Given the description of an element on the screen output the (x, y) to click on. 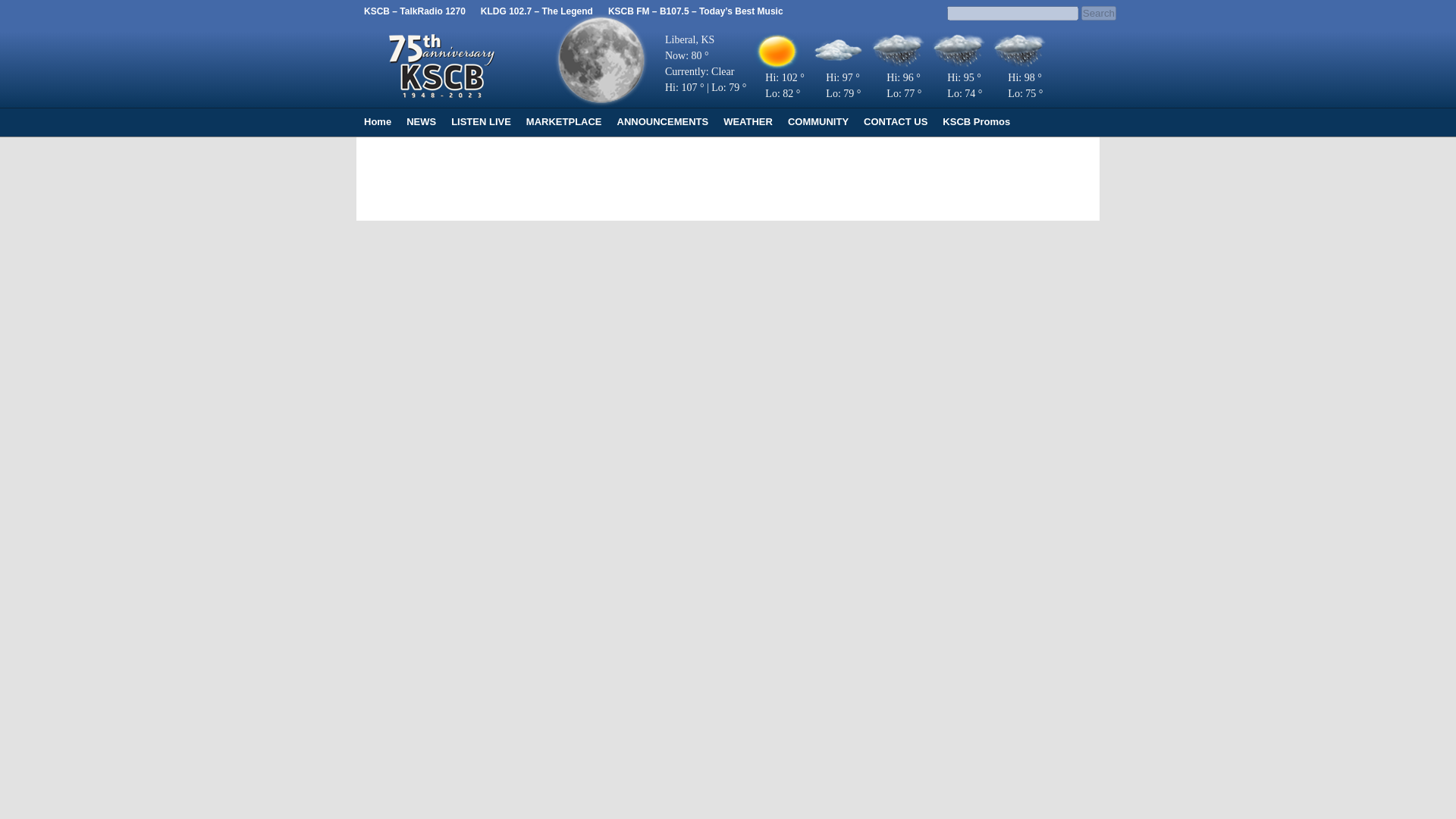
KSCB Promos (975, 121)
Search (1098, 12)
NEWS (421, 121)
CONTACT US (895, 121)
Home (377, 121)
LISTEN LIVE (481, 121)
MARKETPLACE (564, 121)
COMMUNITY (818, 121)
WEATHER (748, 121)
ANNOUNCEMENTS (663, 121)
Search (1098, 12)
